Given the description of an element on the screen output the (x, y) to click on. 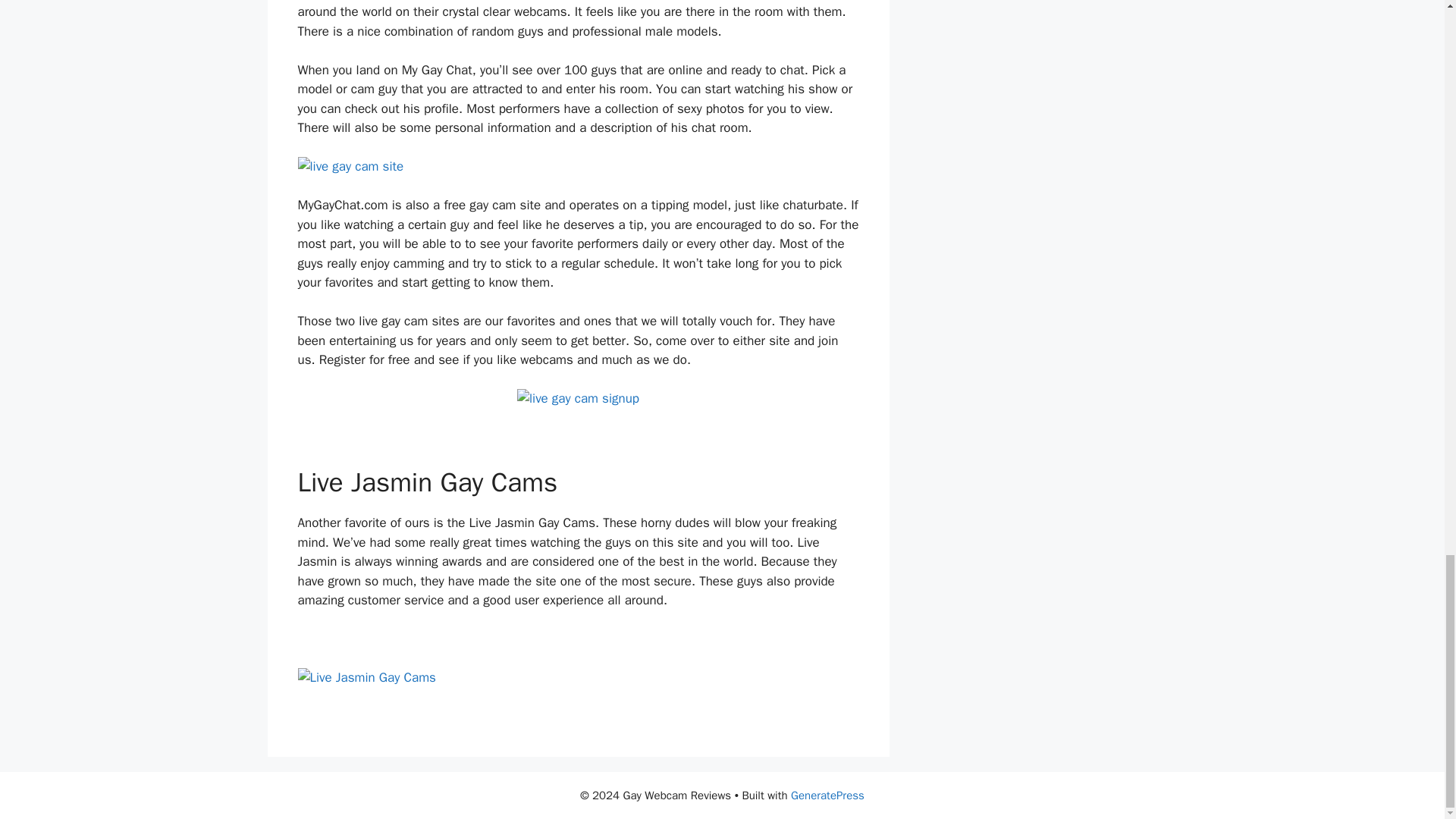
GeneratePress (827, 795)
